Given the description of an element on the screen output the (x, y) to click on. 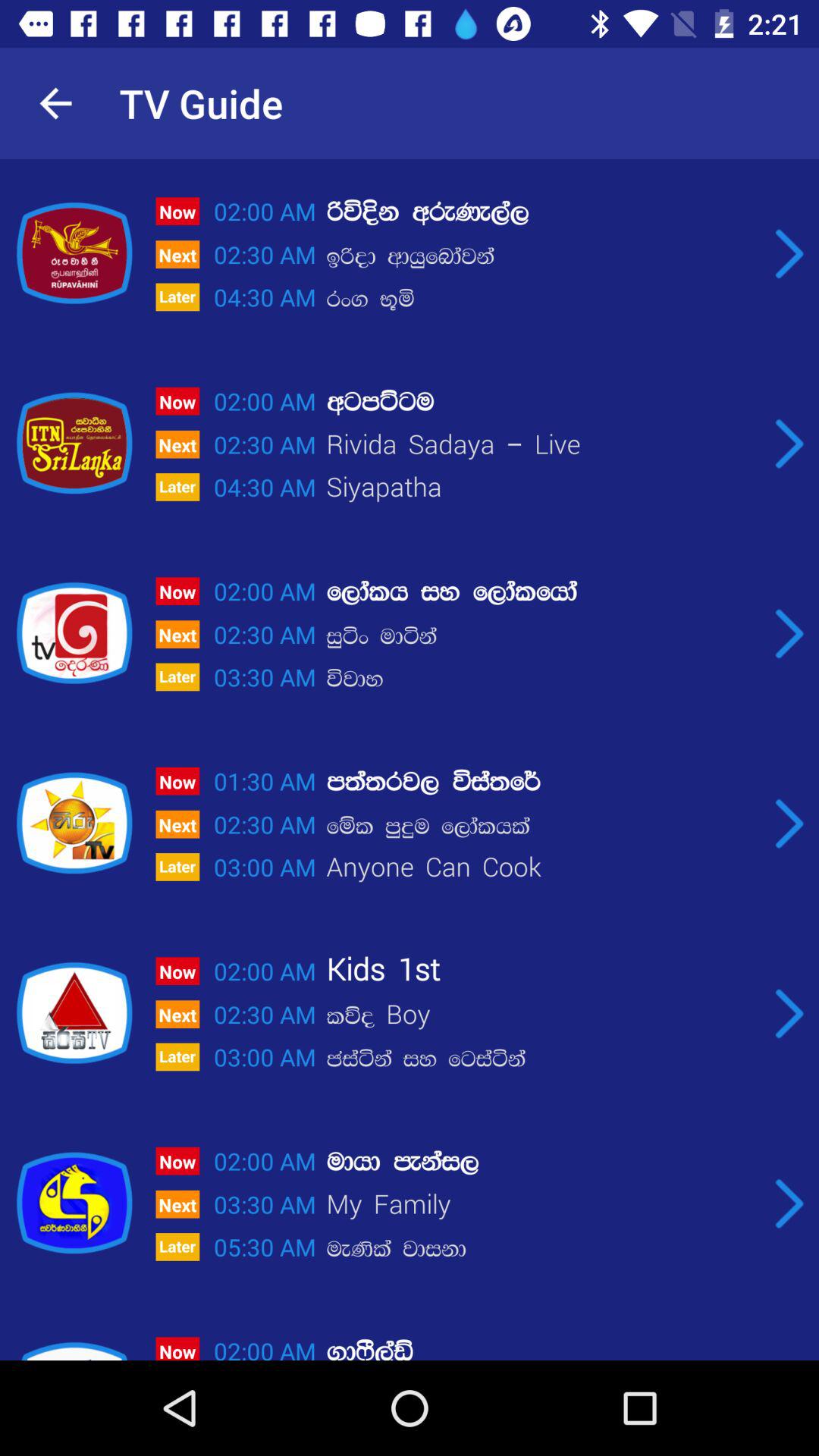
press item next to the tv guide icon (55, 103)
